Given the description of an element on the screen output the (x, y) to click on. 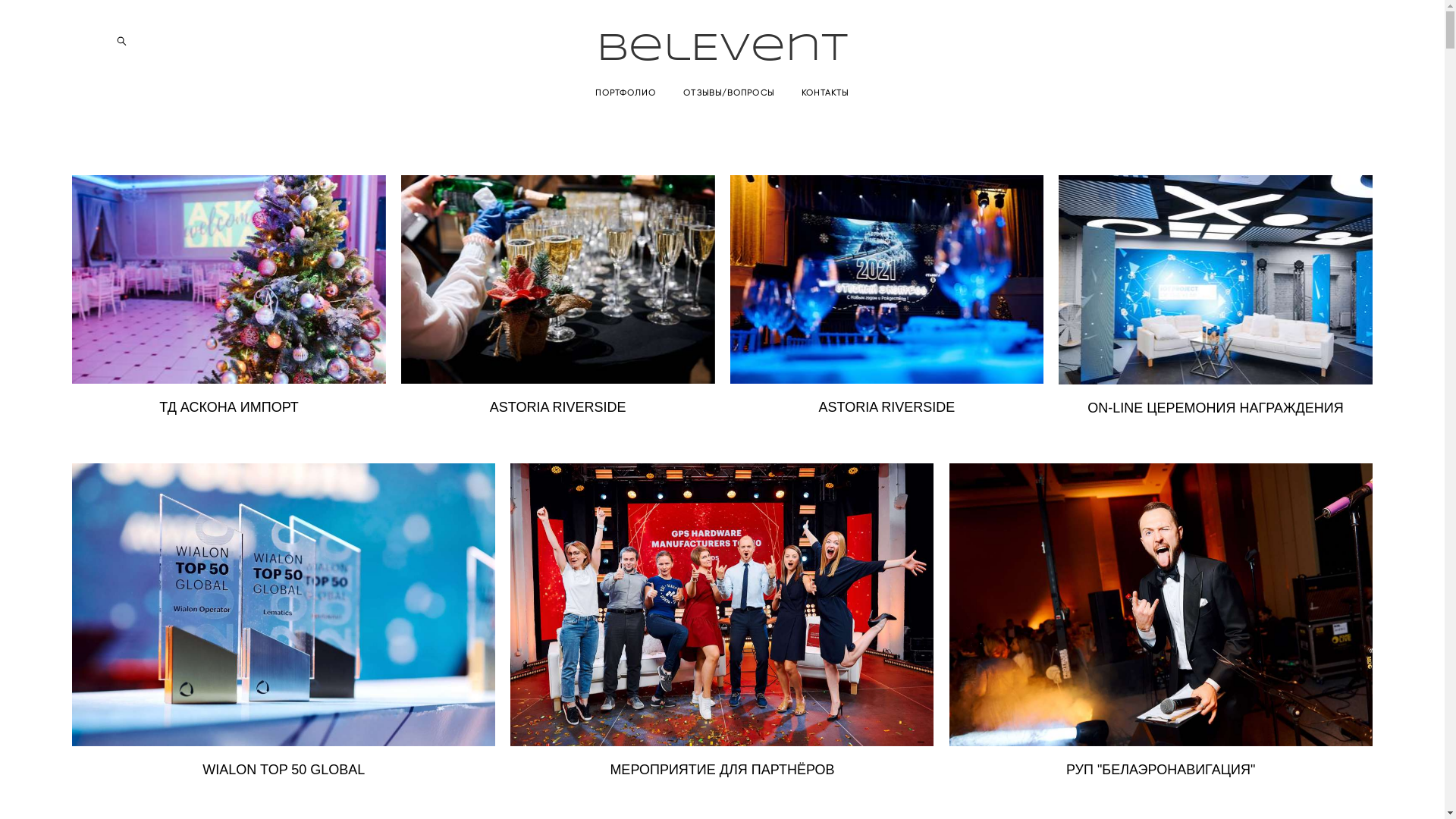
BelEvent Element type: text (721, 49)
